Given the description of an element on the screen output the (x, y) to click on. 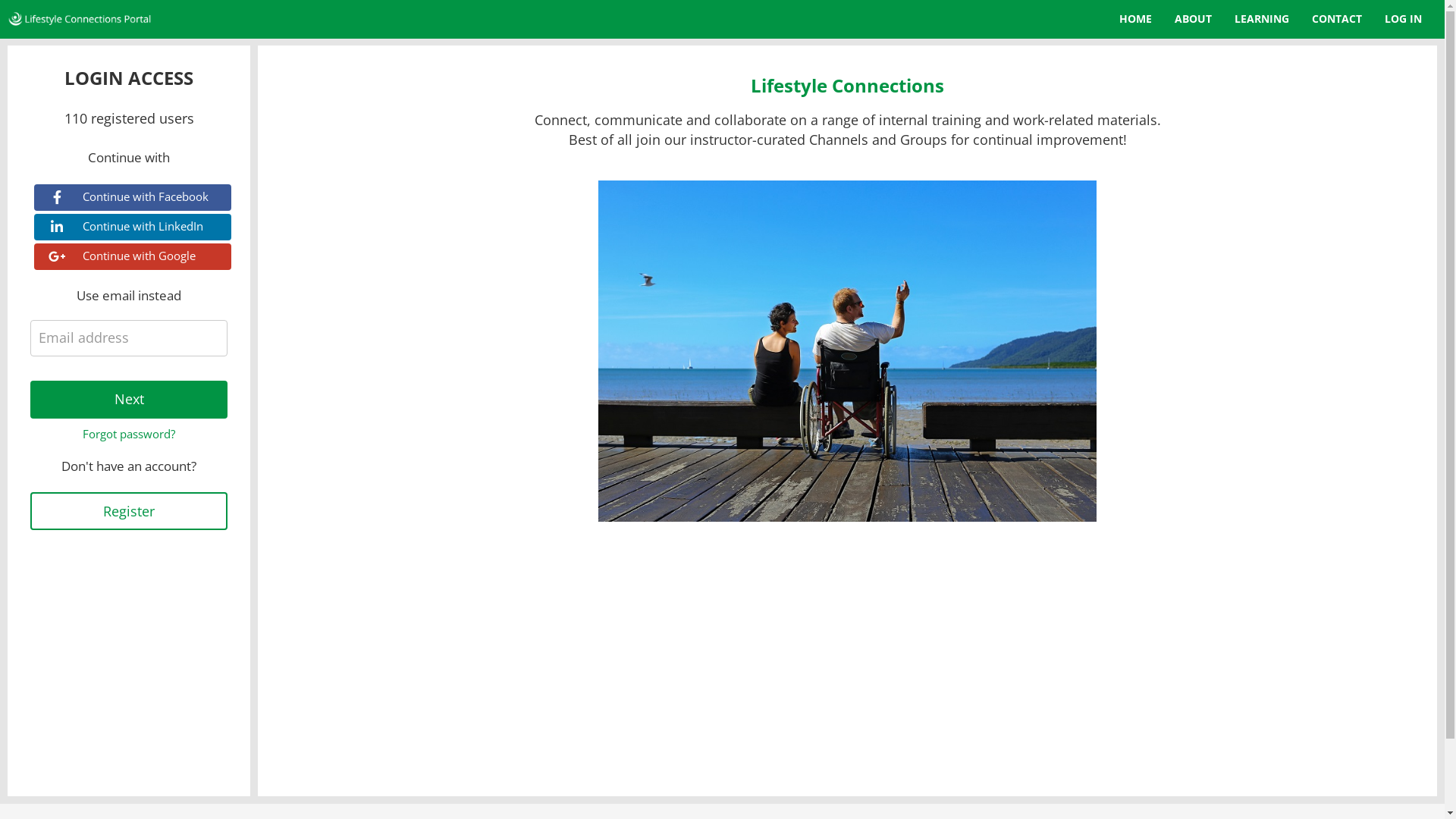
LEARNING Element type: text (1261, 19)
Continue with Facebook Element type: text (132, 197)
Register Element type: text (128, 511)
LOG IN Element type: text (1403, 19)
HOME Element type: text (1135, 19)
Continue with Google Element type: text (132, 256)
Next Element type: text (128, 399)
CONTACT Element type: text (1336, 19)
Continue with LinkedIn Element type: text (132, 226)
Forgot password? Element type: text (128, 434)
ABOUT Element type: text (1193, 19)
